Given the description of an element on the screen output the (x, y) to click on. 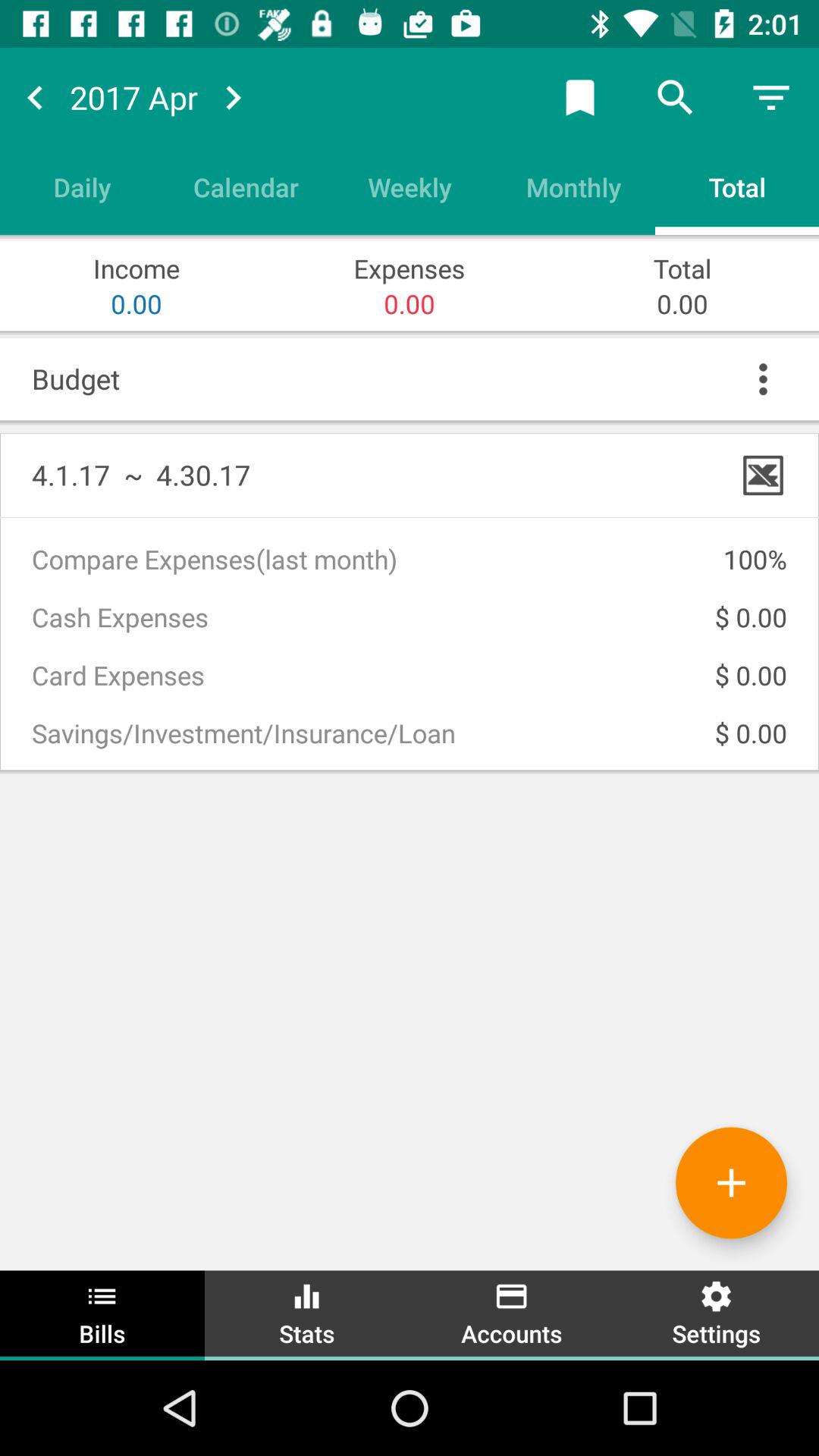
go back (34, 97)
